Given the description of an element on the screen output the (x, y) to click on. 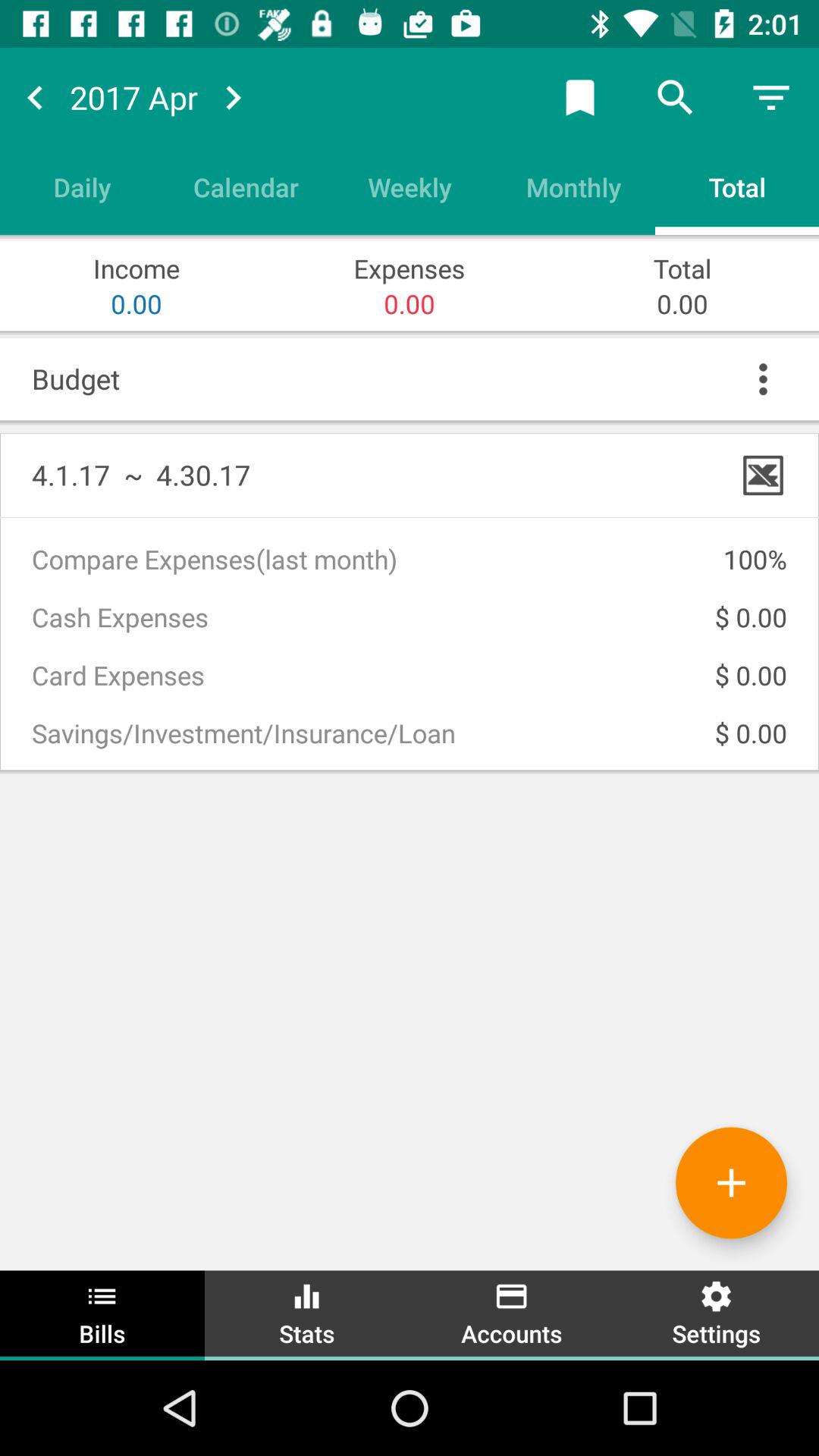
go back (34, 97)
